Given the description of an element on the screen output the (x, y) to click on. 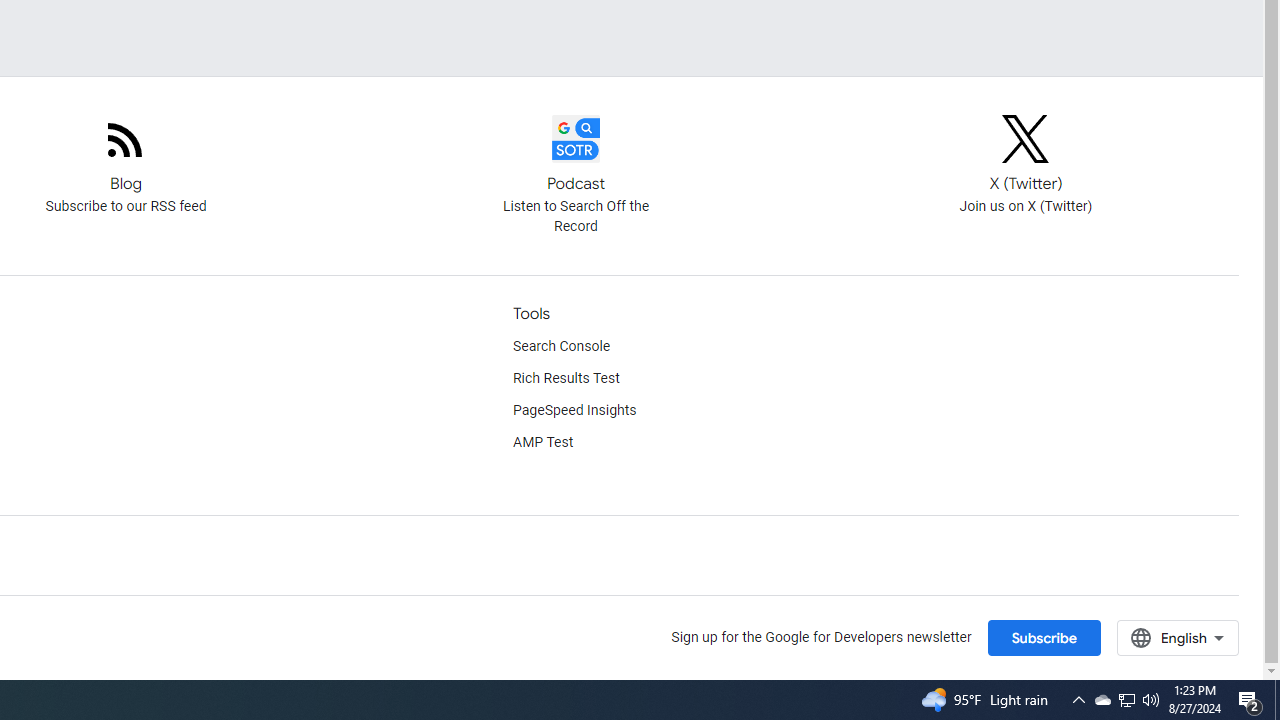
PageSpeed Insights (575, 410)
X (Twitter) (1025, 138)
Rich Results Test (566, 378)
Twitter feed for Google Search Central (1026, 156)
Subscribe (1043, 637)
English (1177, 637)
RSS feed for the Search Central Blog (125, 156)
AMP Test (543, 442)
Search Console (561, 346)
Podcast (575, 138)
Blog (125, 138)
Search Off the Record podcast episodes (576, 156)
